Given the description of an element on the screen output the (x, y) to click on. 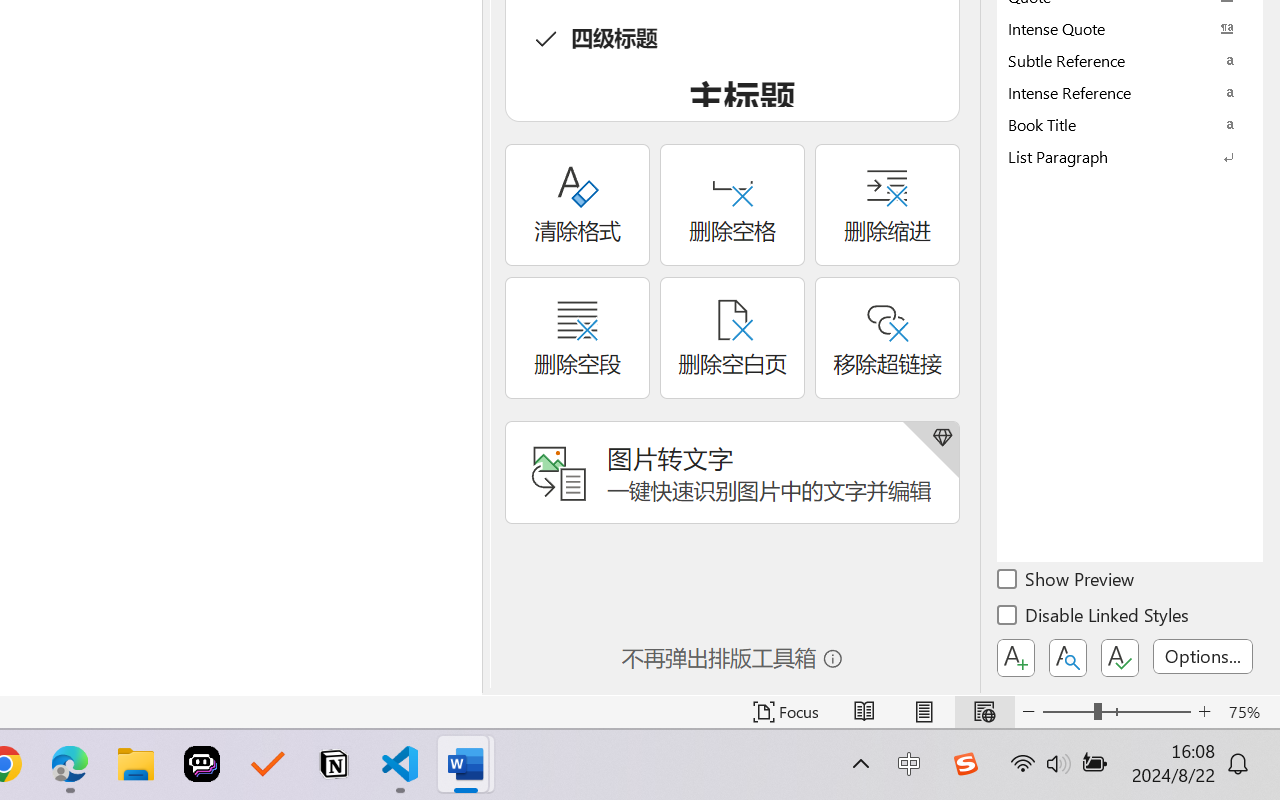
Read Mode (864, 712)
Disable Linked Styles (1094, 618)
Subtle Reference (1130, 60)
Intense Reference (1130, 92)
Show Preview (1067, 582)
Zoom (1116, 712)
